Given the description of an element on the screen output the (x, y) to click on. 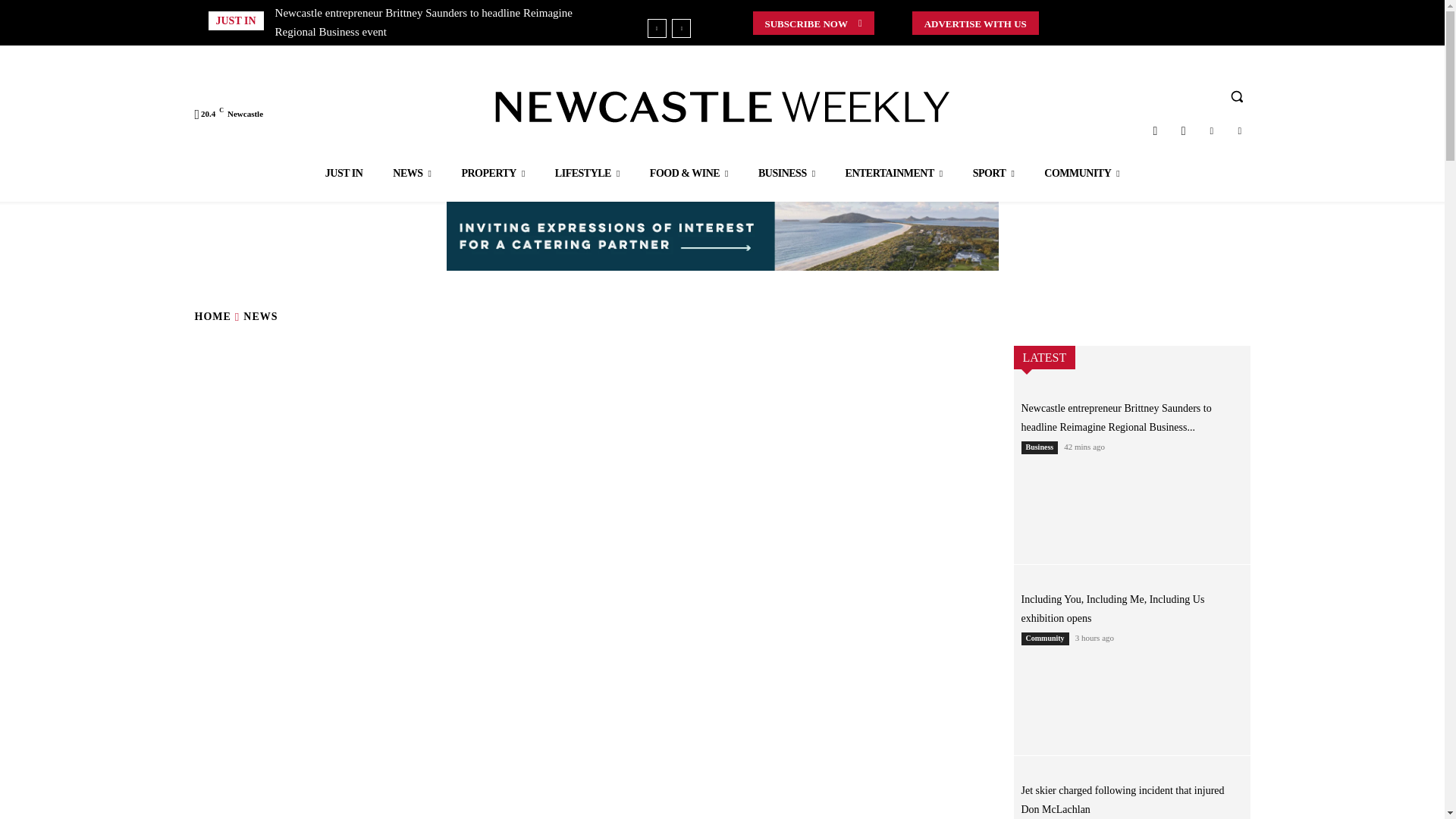
SUBSCRIBE NOW (812, 22)
ADVERTISE WITH US (975, 22)
Facebook (1183, 130)
JUST IN (344, 173)
Newscastle Weekly (722, 106)
Instagram (1155, 130)
Twitter (1211, 130)
